Given the description of an element on the screen output the (x, y) to click on. 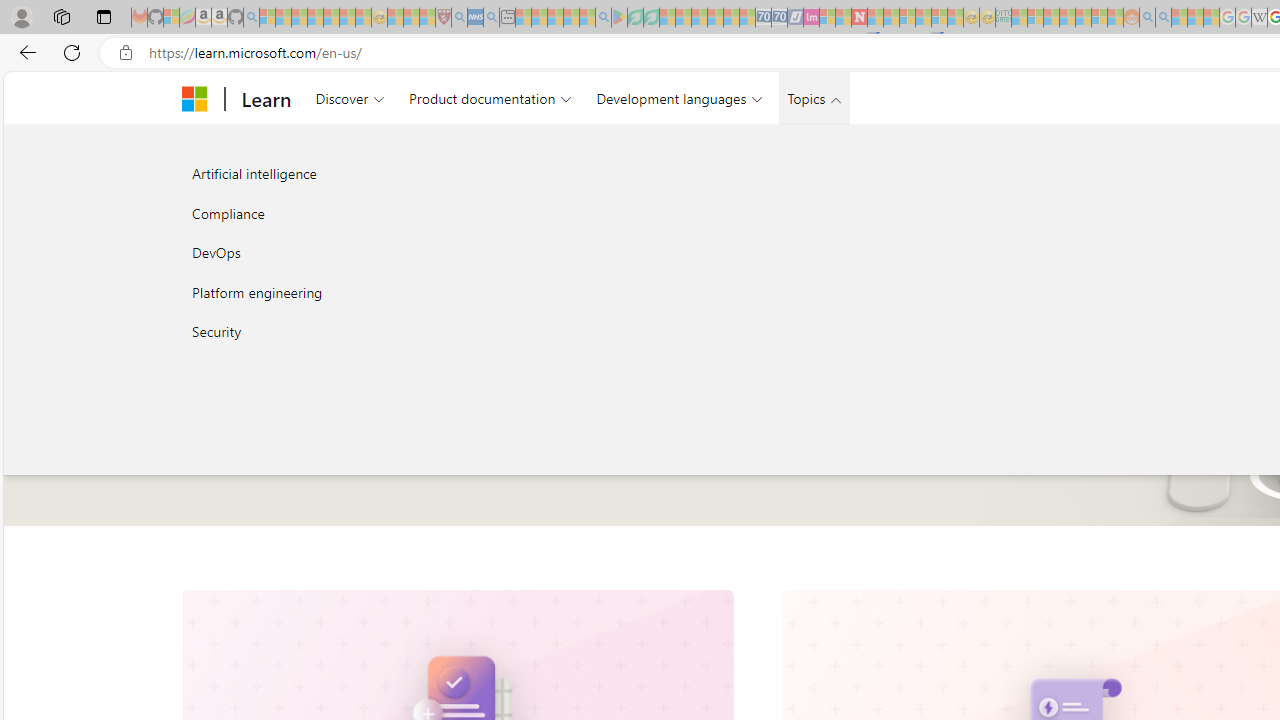
Target page - Wikipedia - Sleeping (1259, 17)
DevOps (394, 252)
Platform engineering (394, 291)
Product documentation (490, 98)
Compliance (394, 212)
